Given the description of an element on the screen output the (x, y) to click on. 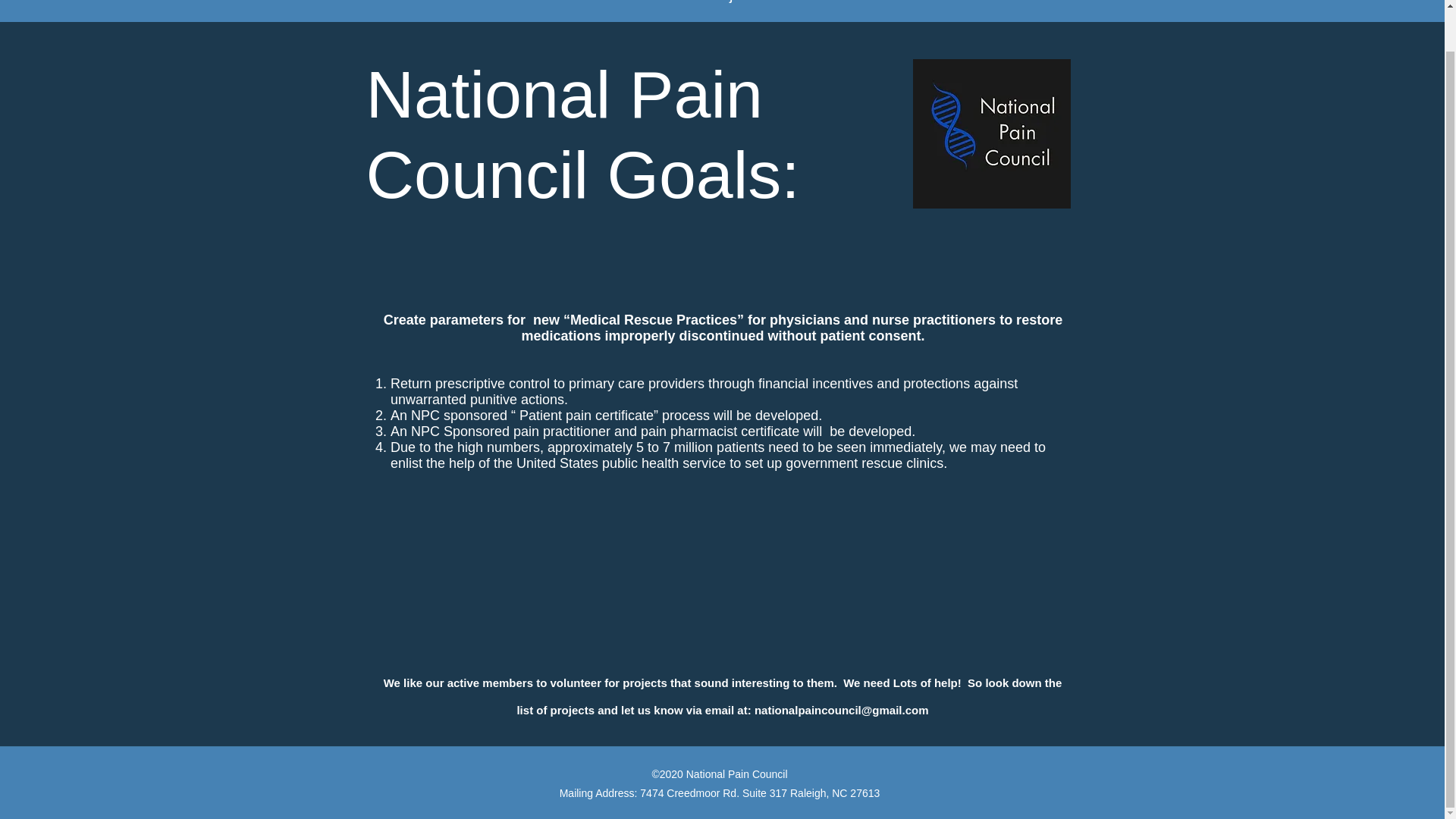
Goals (604, 2)
Contact (1131, 2)
News (664, 2)
Affilliates (982, 2)
About (545, 2)
Projects (732, 2)
Home (484, 2)
Donate (805, 2)
Publications (890, 2)
Memes (1060, 2)
